Given the description of an element on the screen output the (x, y) to click on. 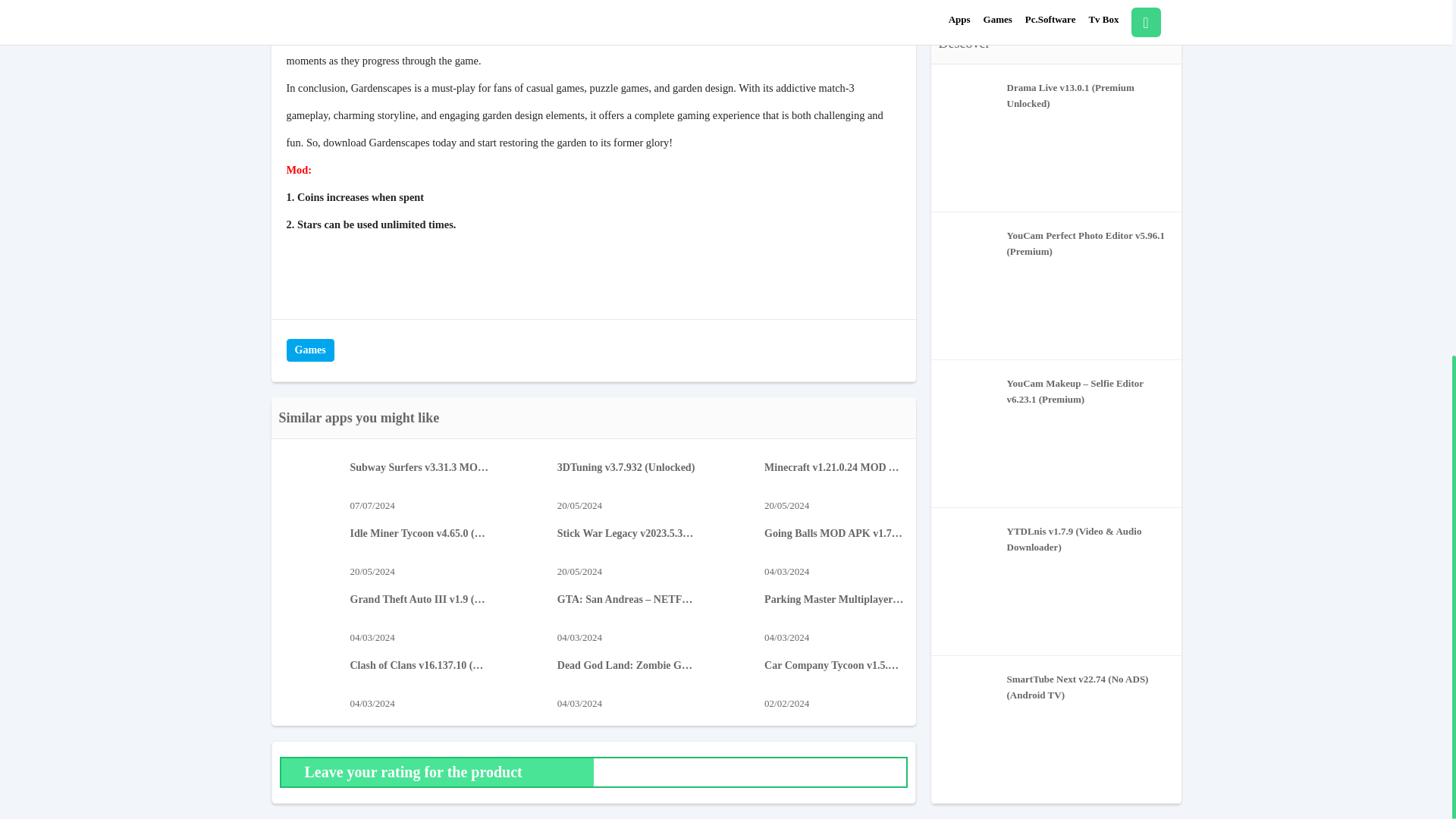
Minecraft v1.21.0.24 MOD APK (833, 467)
Similar apps you might like (359, 417)
Minecraft v1.21.0.24 MOD APK (833, 467)
Games (310, 350)
Minecraft v1.21.0.24 MOD APK (730, 511)
